Given the description of an element on the screen output the (x, y) to click on. 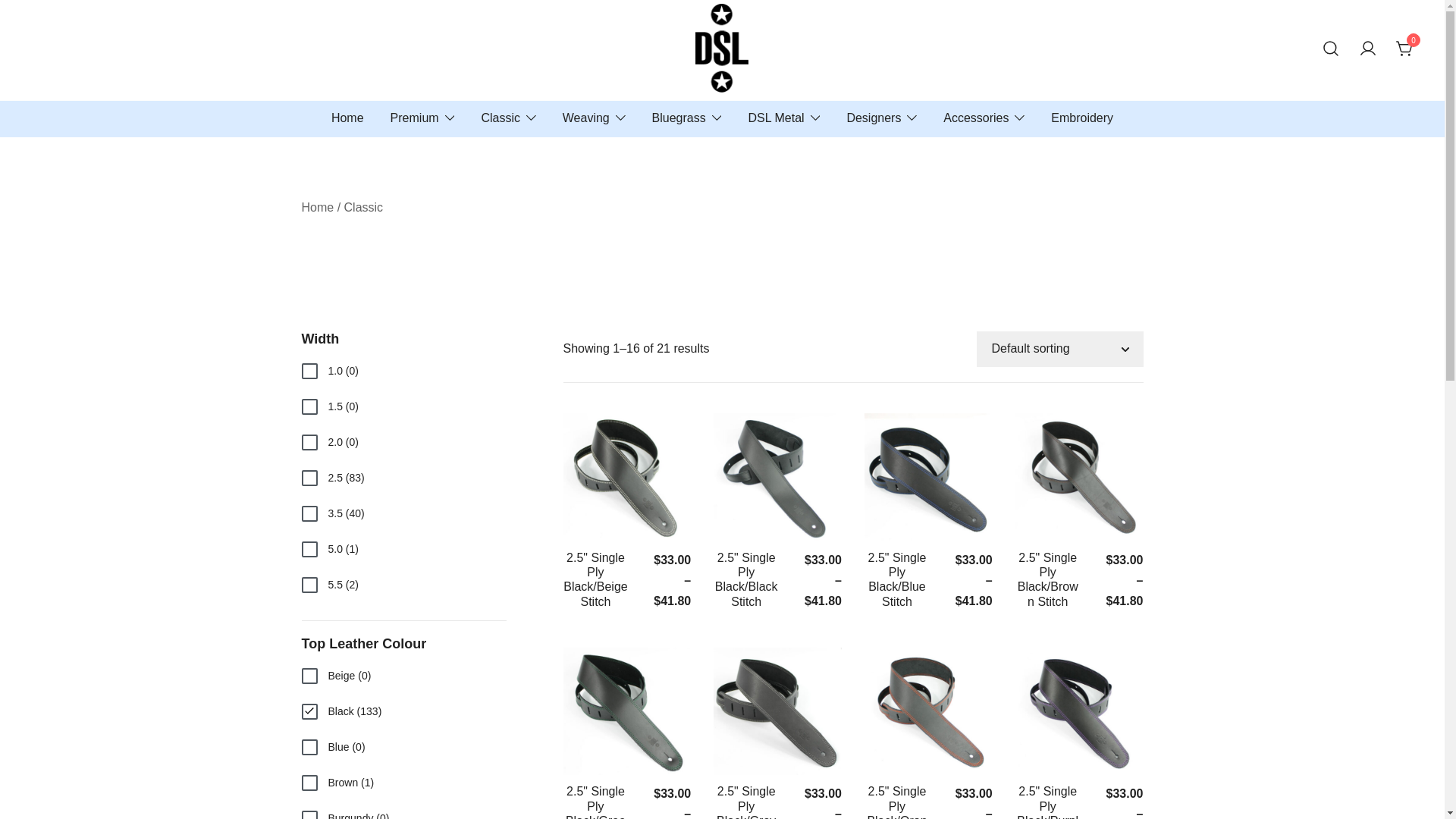
Accessories Element type: text (975, 118)
DSL Metal Element type: text (775, 118)
Home Element type: text (317, 206)
2.5" Single Ply Black/Brown Stitch Element type: text (1047, 579)
Your account Element type: hover (1367, 49)
Embroidery Element type: text (1082, 118)
Weaving Element type: text (585, 118)
2.5" Single Ply Black/Black Stitch Element type: text (746, 579)
Designers Element type: text (873, 118)
Premium Element type: text (414, 118)
0 Element type: text (1405, 48)
Bluegrass Element type: text (679, 118)
Classic Element type: text (500, 118)
Search for a product Element type: hover (1330, 49)
2.5" Single Ply Black/Beige Stitch Element type: text (595, 579)
Home Element type: text (347, 118)
2.5" Single Ply Black/Blue Stitch Element type: text (897, 579)
